Given the description of an element on the screen output the (x, y) to click on. 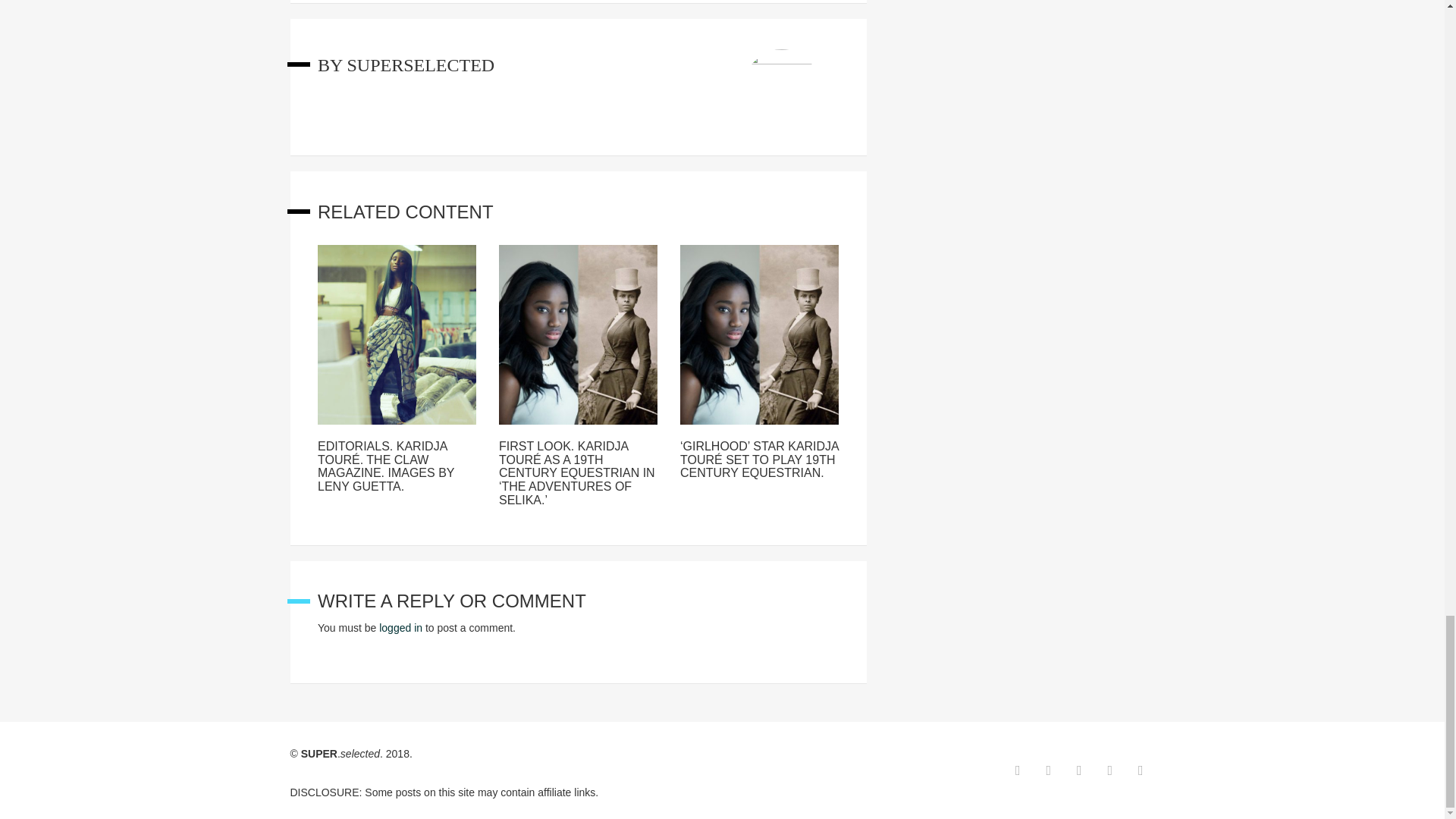
superselected (420, 65)
